Given the description of an element on the screen output the (x, y) to click on. 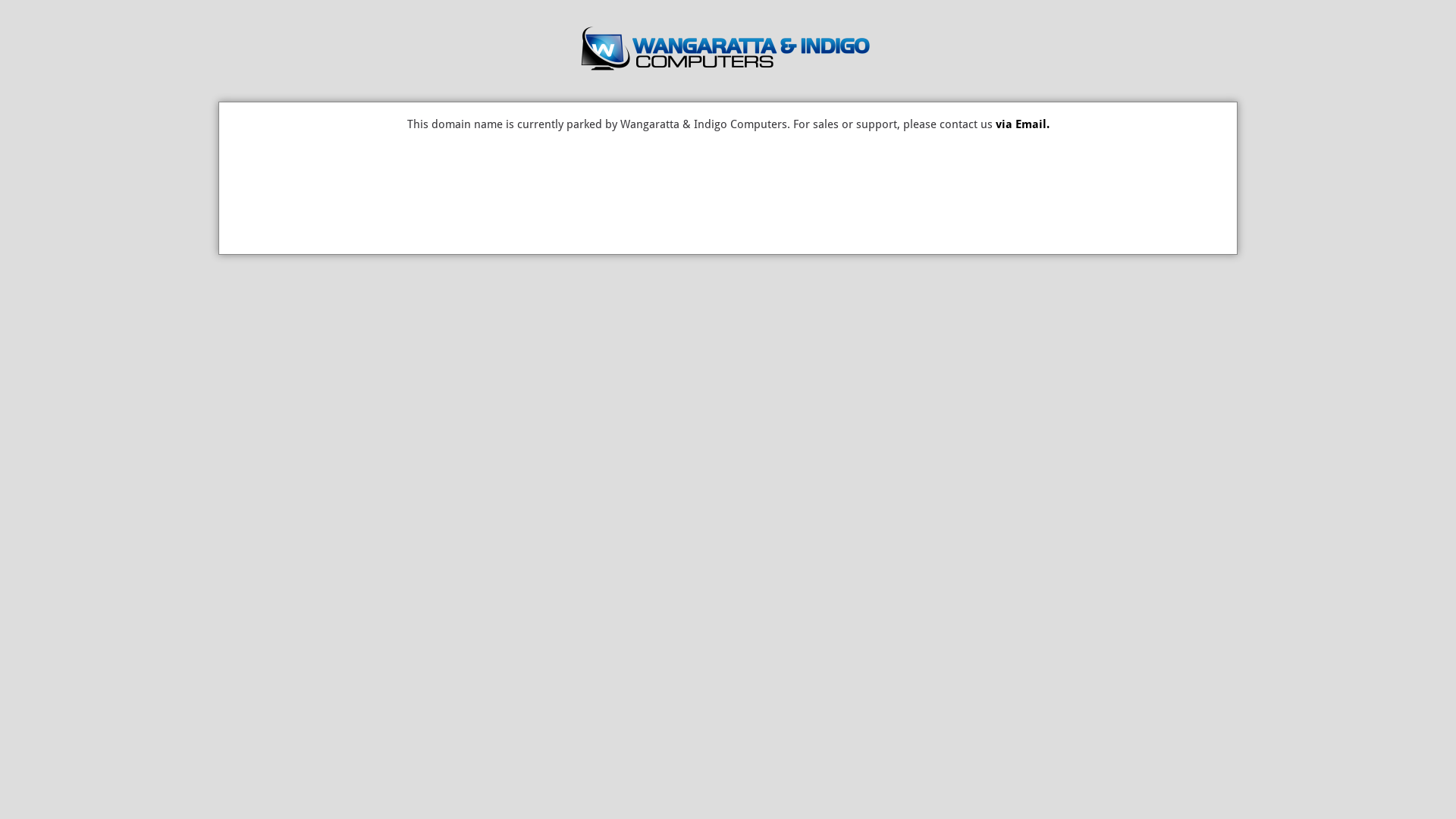
via Email. Element type: text (1021, 124)
